Given the description of an element on the screen output the (x, y) to click on. 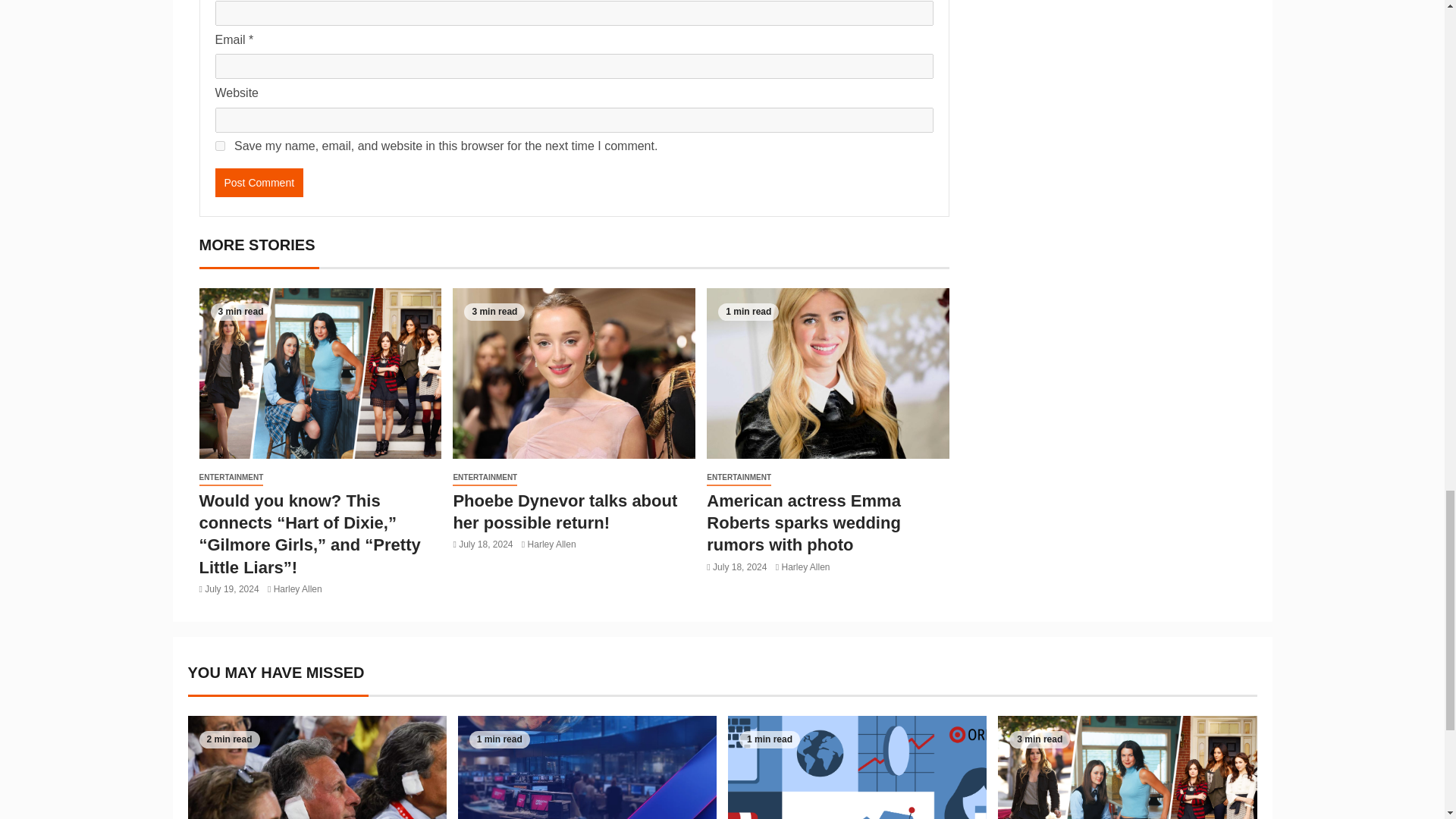
yes (220, 145)
Post Comment (259, 182)
Post Comment (259, 182)
